Given the description of an element on the screen output the (x, y) to click on. 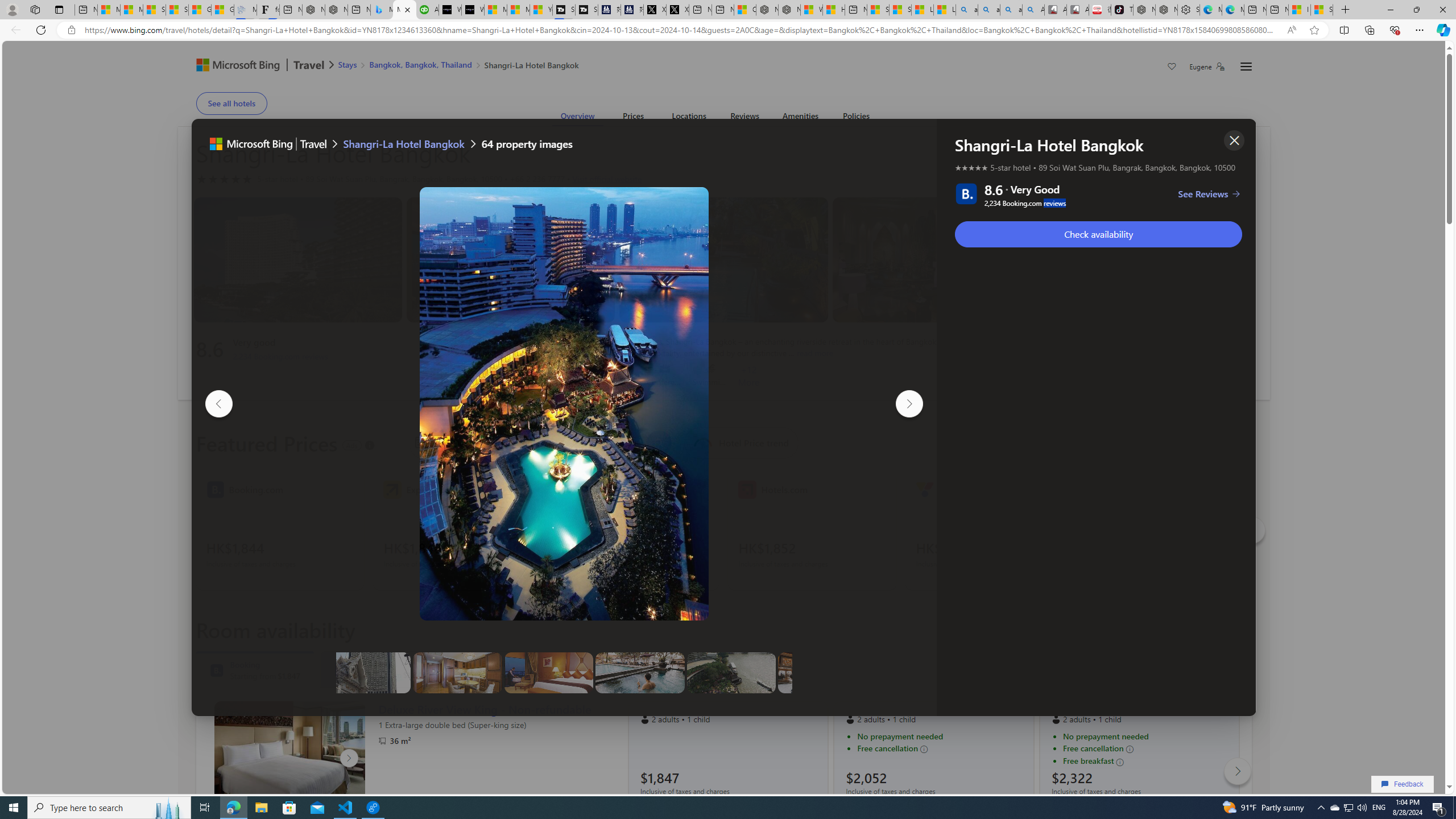
Nordace - Best Sellers (1144, 9)
Gilma and Hector both pose tropical trouble for Hawaii (222, 9)
All Cubot phones (1077, 9)
Settings (1188, 9)
TikTok (1122, 9)
